Given the description of an element on the screen output the (x, y) to click on. 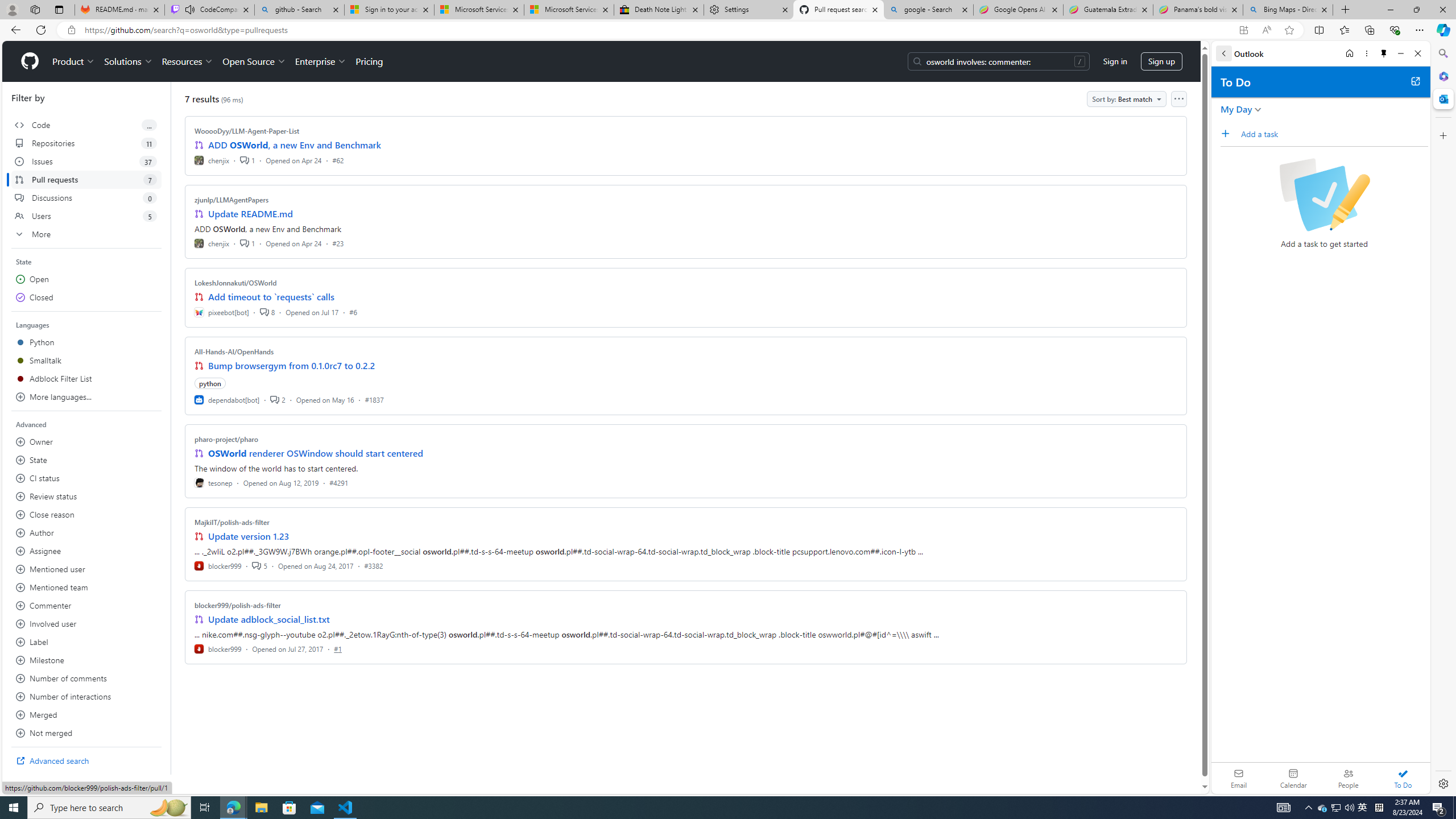
Email (1238, 777)
Add a task (1334, 133)
1 (246, 242)
blocker999 (218, 648)
More (86, 234)
Advanced search (86, 760)
